Given the description of an element on the screen output the (x, y) to click on. 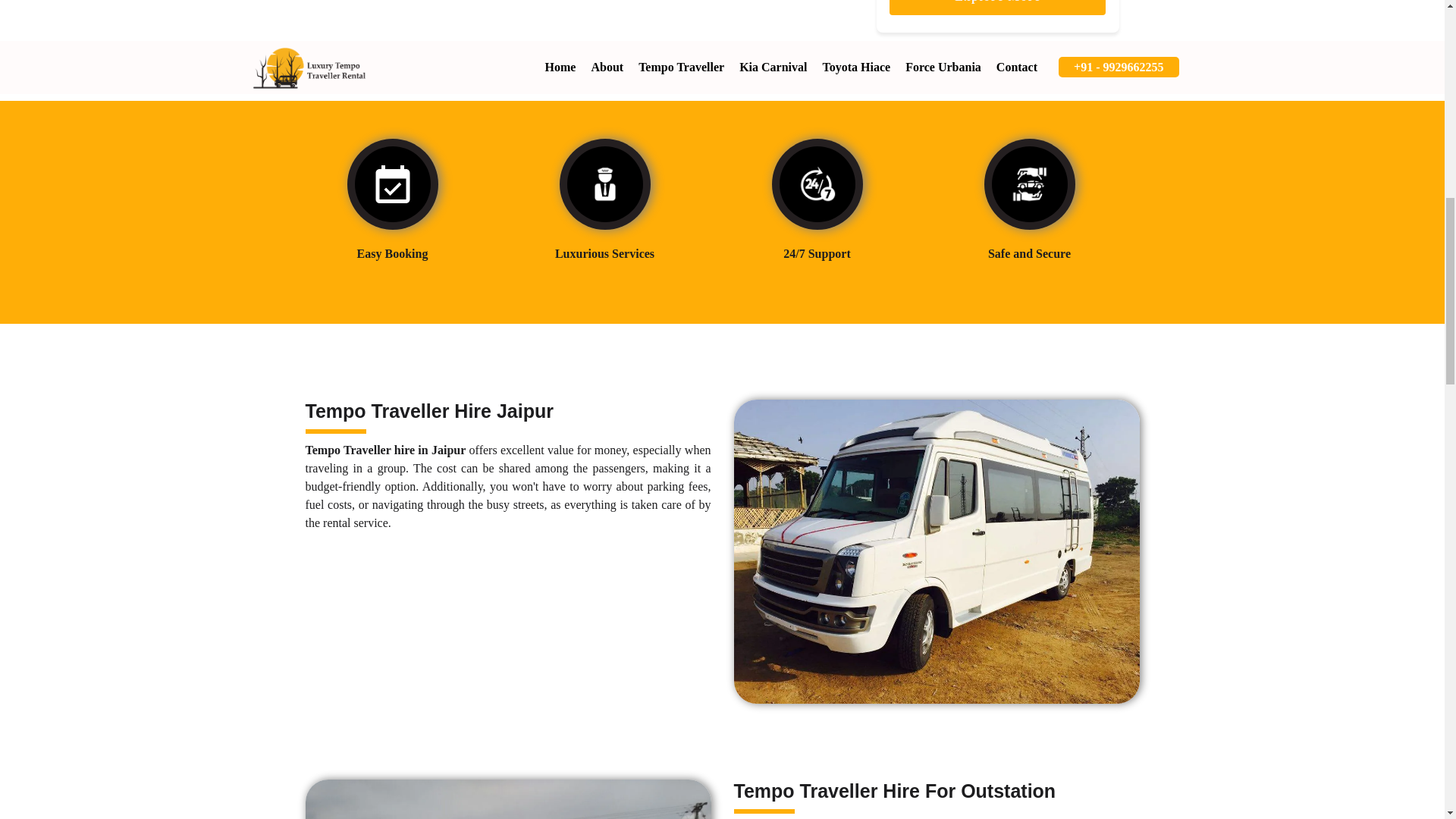
Tempo Traveller hire in Jaipur (384, 449)
Explore More (997, 7)
